Given the description of an element on the screen output the (x, y) to click on. 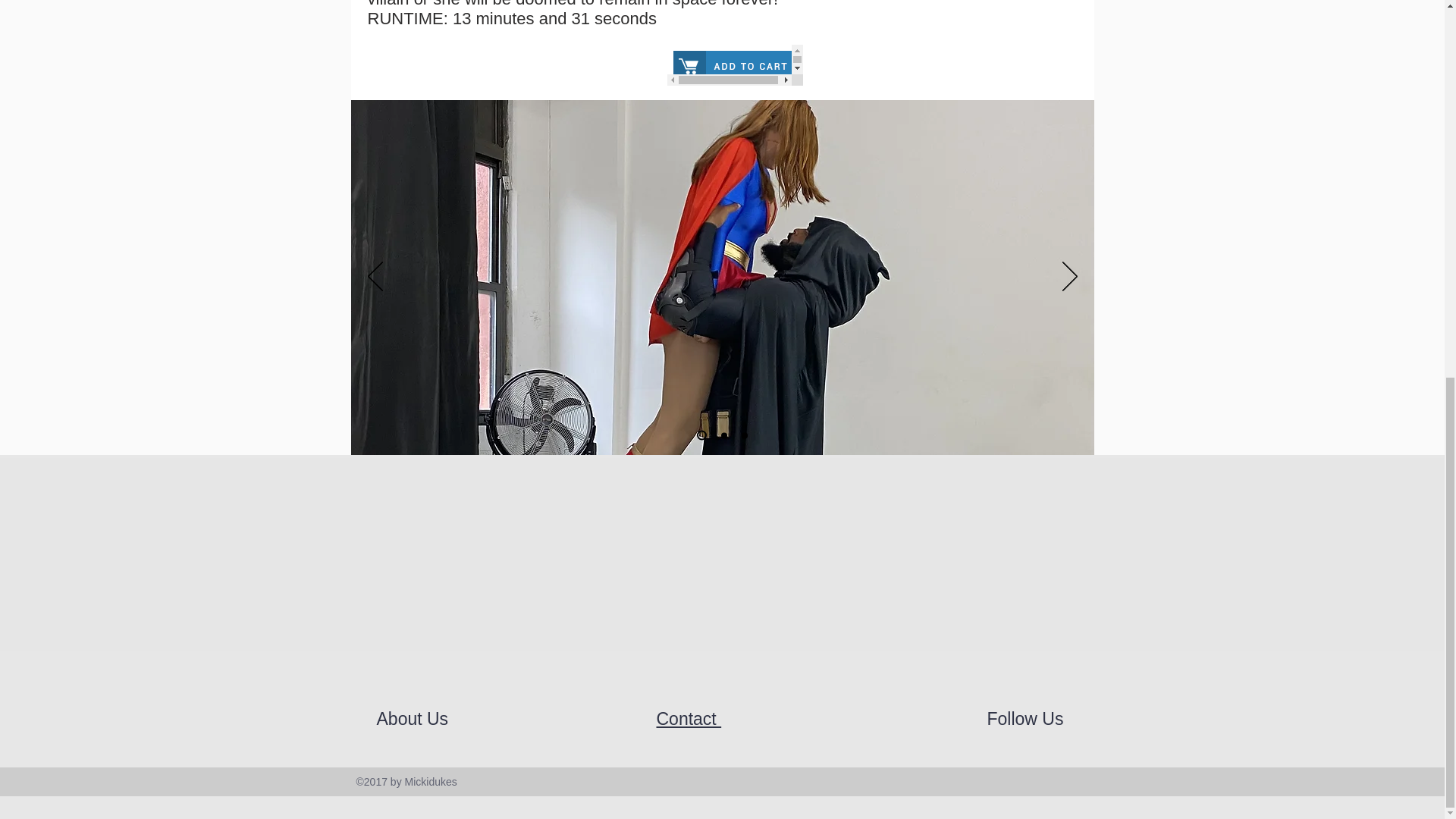
Embedded Content (734, 65)
About Us  (413, 718)
Contact  (689, 718)
